Given the description of an element on the screen output the (x, y) to click on. 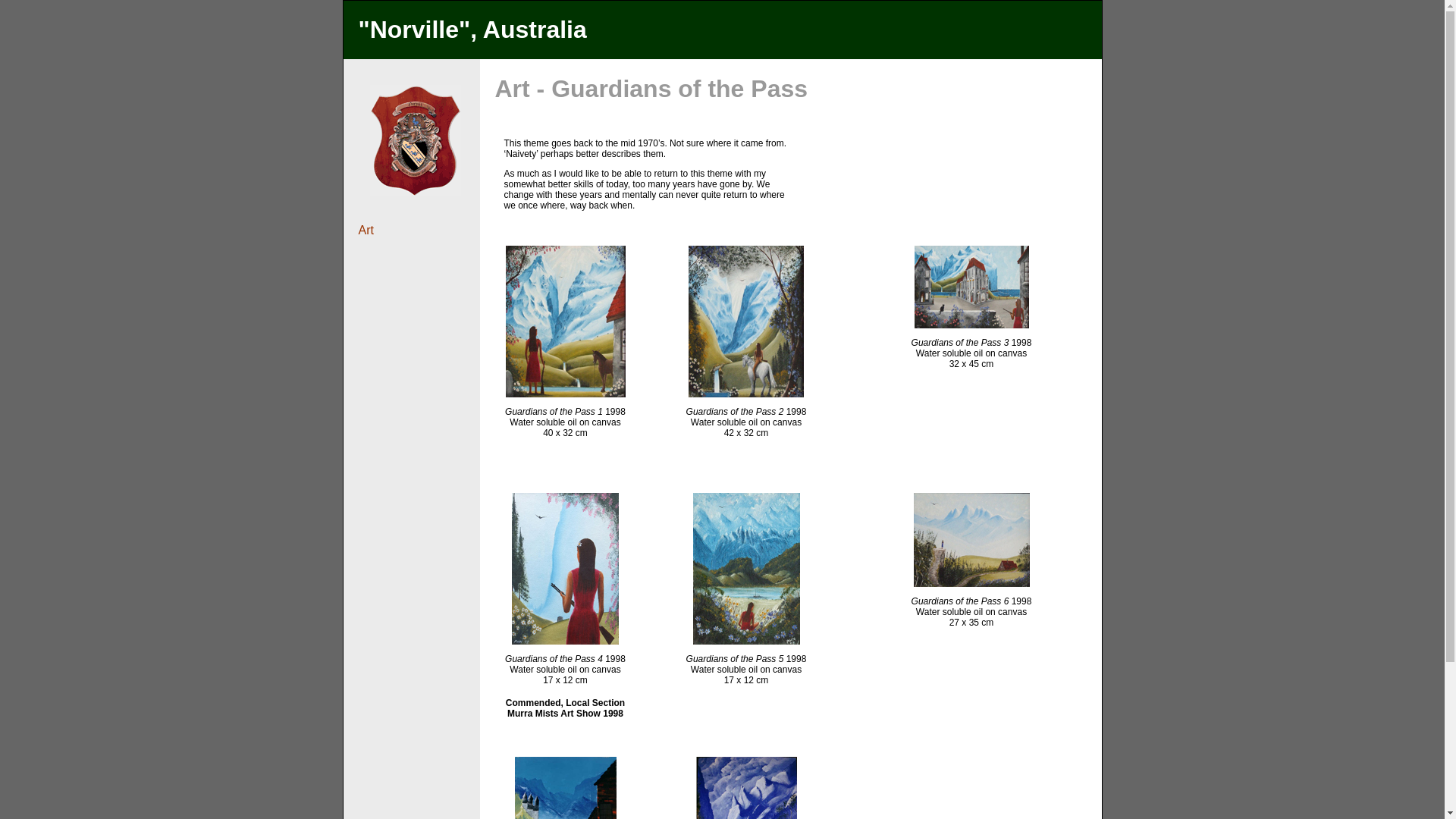
"Norville", Australia Element type: text (471, 29)
Art Element type: text (365, 229)
